Given the description of an element on the screen output the (x, y) to click on. 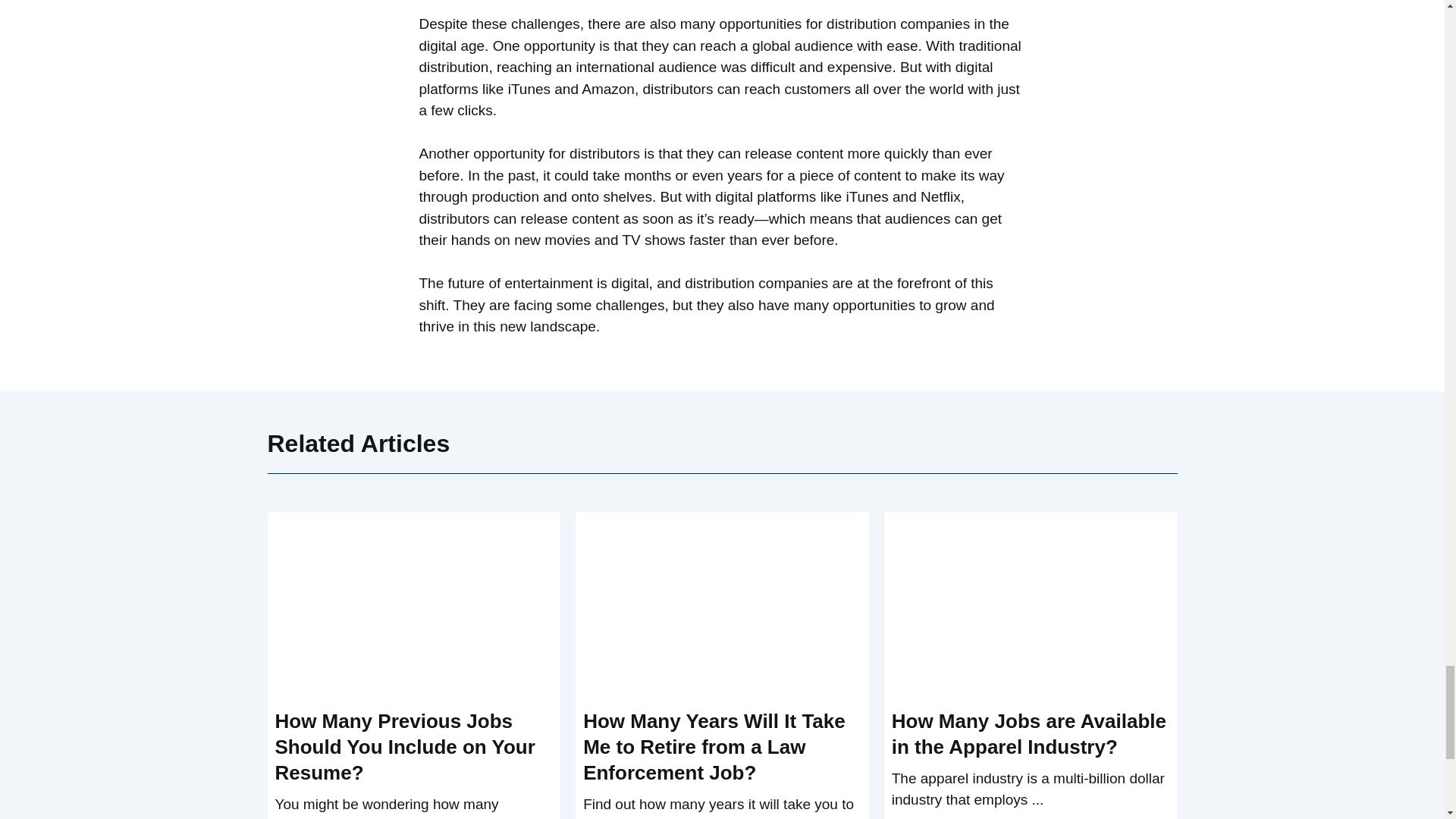
How Many Jobs are Available in the Apparel Industry? (1028, 734)
How Many Previous Jobs Should You Include on Your Resume? (404, 746)
